Given the description of an element on the screen output the (x, y) to click on. 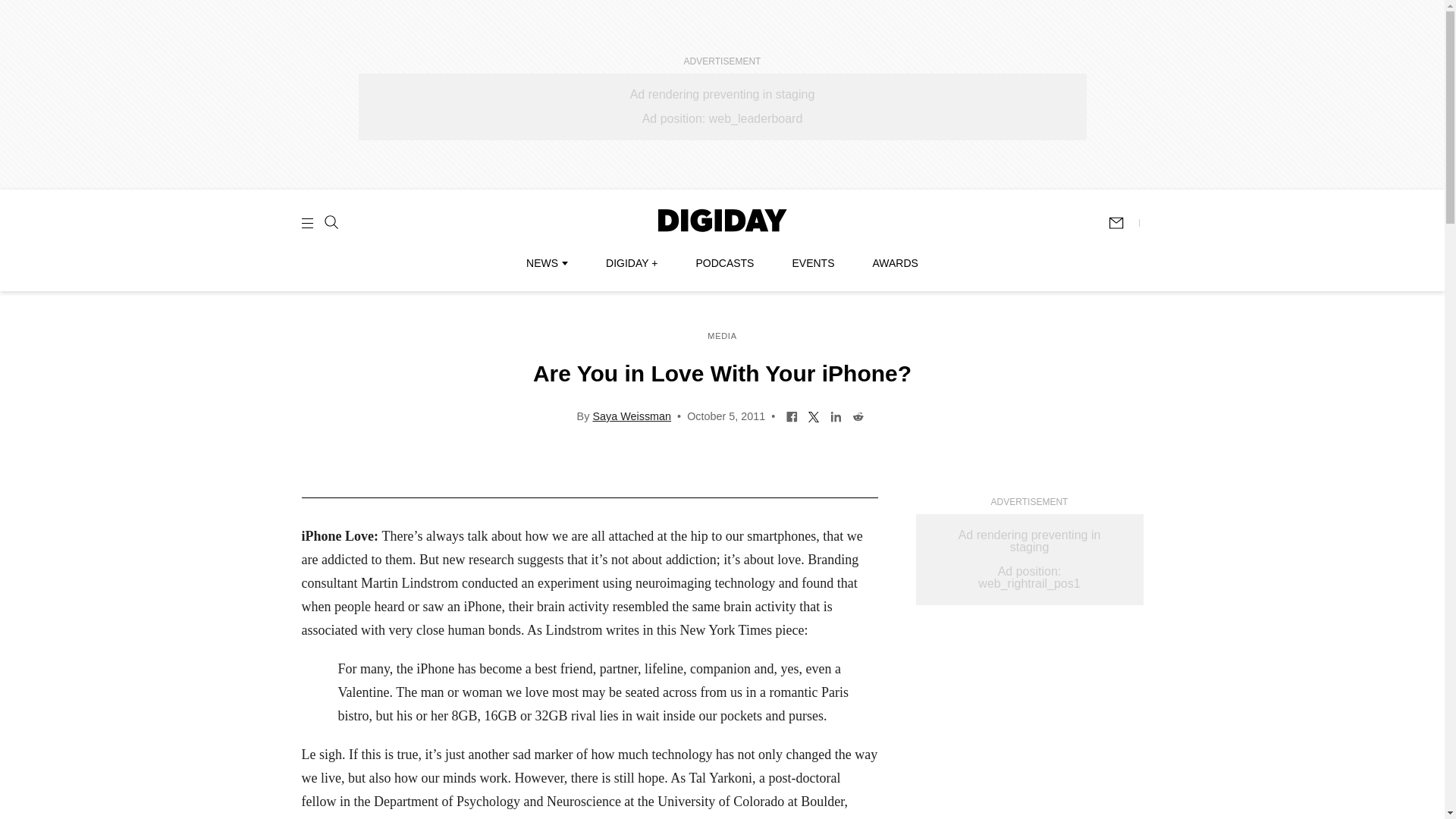
Share on Facebook (791, 415)
Share on LinkedIn (836, 415)
Subscribe (1123, 223)
Share on Twitter (814, 415)
NEWS (546, 262)
Share on Reddit (857, 415)
PODCASTS (725, 262)
EVENTS (813, 262)
AWARDS (894, 262)
